Given the description of an element on the screen output the (x, y) to click on. 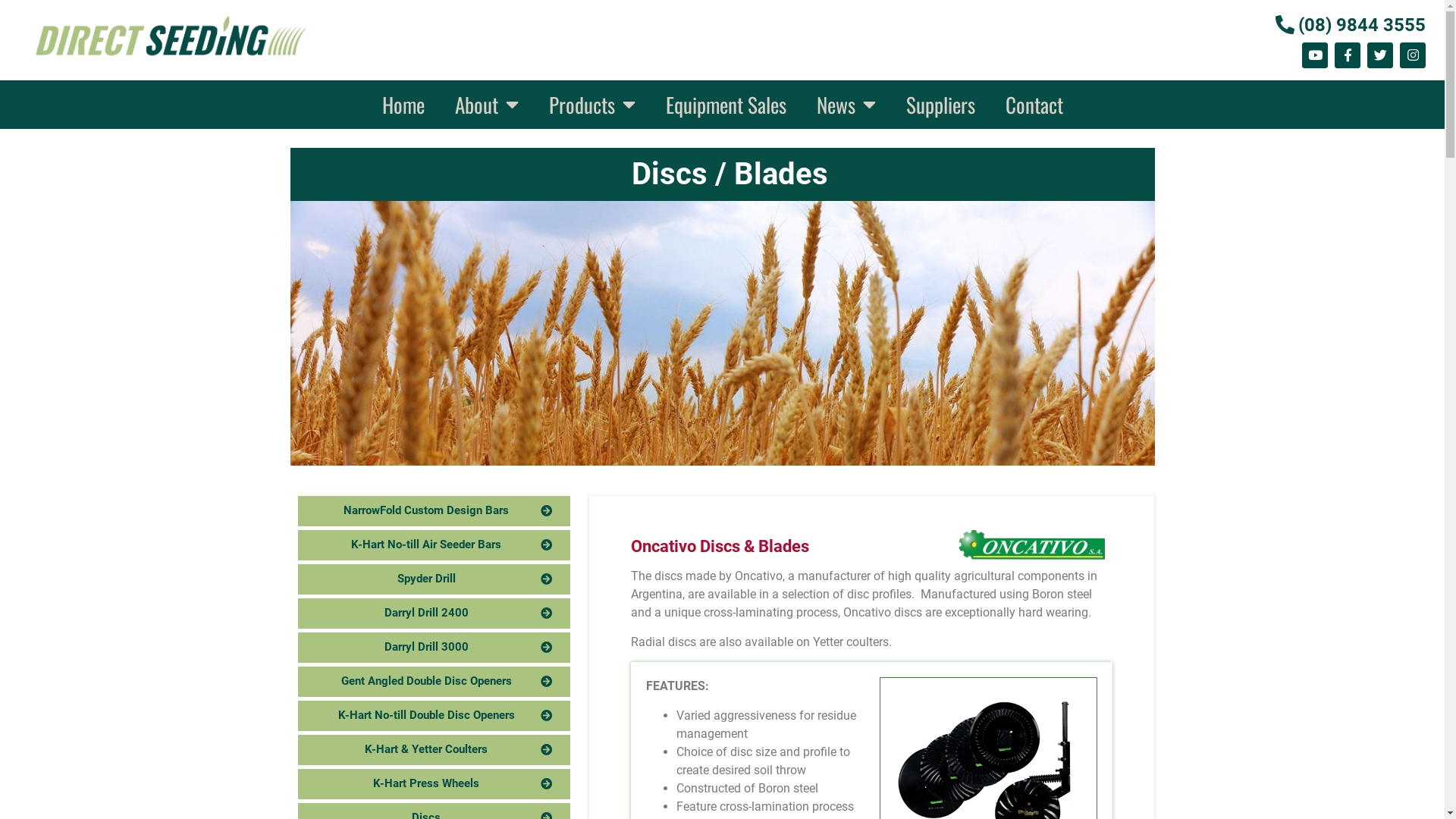
K-Hart No-till Air Seeder Bars Element type: text (433, 545)
News Element type: text (845, 104)
K-Hart No-till Double Disc Openers Element type: text (433, 715)
Spyder Drill Element type: text (433, 579)
Darryl Drill 3000 Element type: text (433, 647)
Gent Angled Double Disc Openers Element type: text (433, 681)
Darryl Drill 2400 Element type: text (433, 613)
Contact Element type: text (1034, 104)
K-Hart & Yetter Coulters Element type: text (433, 749)
Equipment Sales Element type: text (725, 104)
About Element type: text (486, 104)
Suppliers Element type: text (939, 104)
NarrowFold Custom Design Bars Element type: text (433, 510)
Home Element type: text (403, 104)
Products Element type: text (591, 104)
(08) 9844 3555 Element type: text (1347, 24)
K-Hart Press Wheels Element type: text (433, 783)
